Given the description of an element on the screen output the (x, y) to click on. 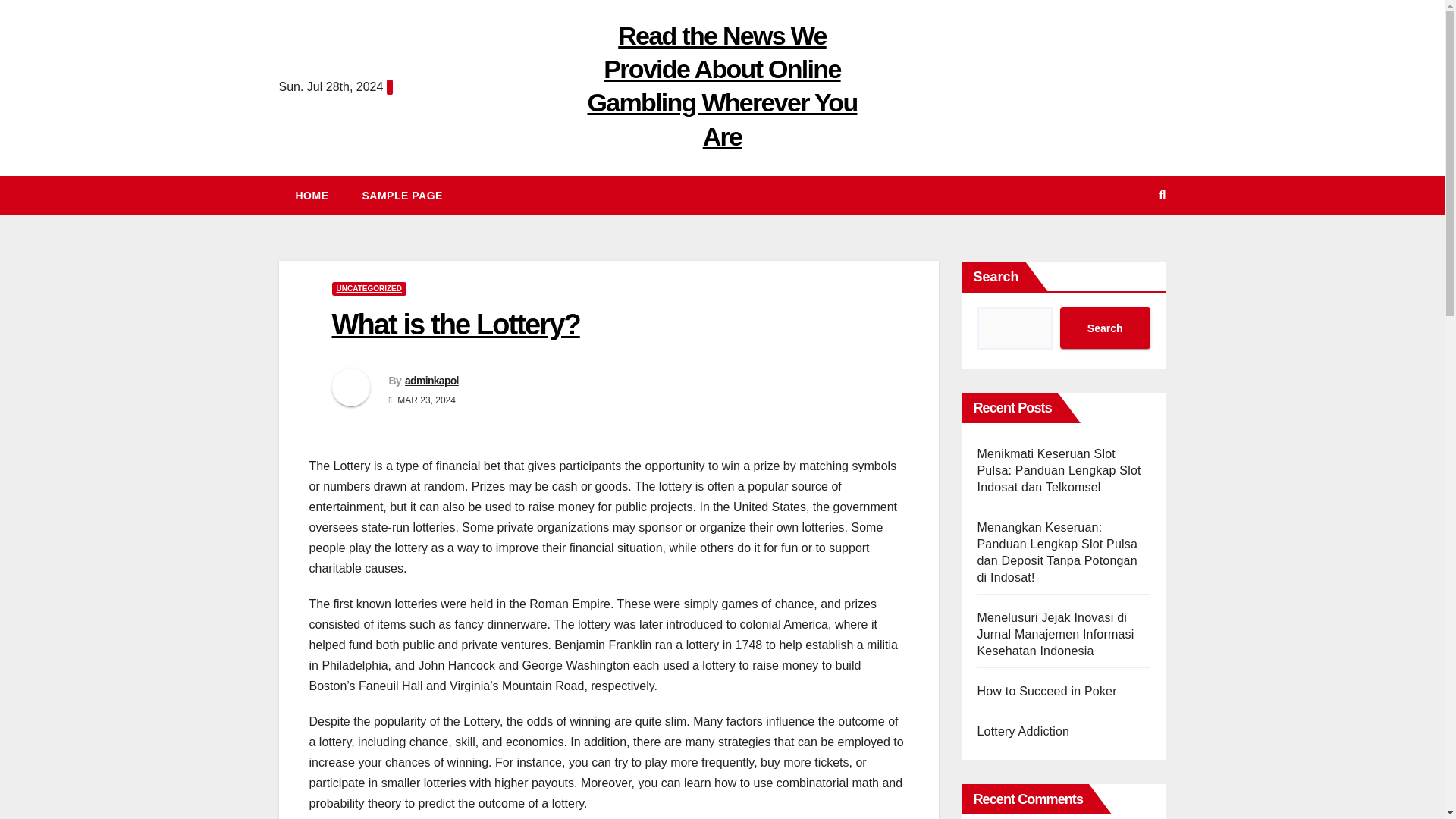
SAMPLE PAGE (403, 195)
How to Succeed in Poker (1046, 690)
What is the Lottery? (455, 324)
Search (1104, 327)
Permalink to: What is the Lottery? (455, 324)
HOME (312, 195)
adminkapol (431, 380)
UNCATEGORIZED (368, 288)
Home (312, 195)
Lottery Addiction (1022, 730)
